Given the description of an element on the screen output the (x, y) to click on. 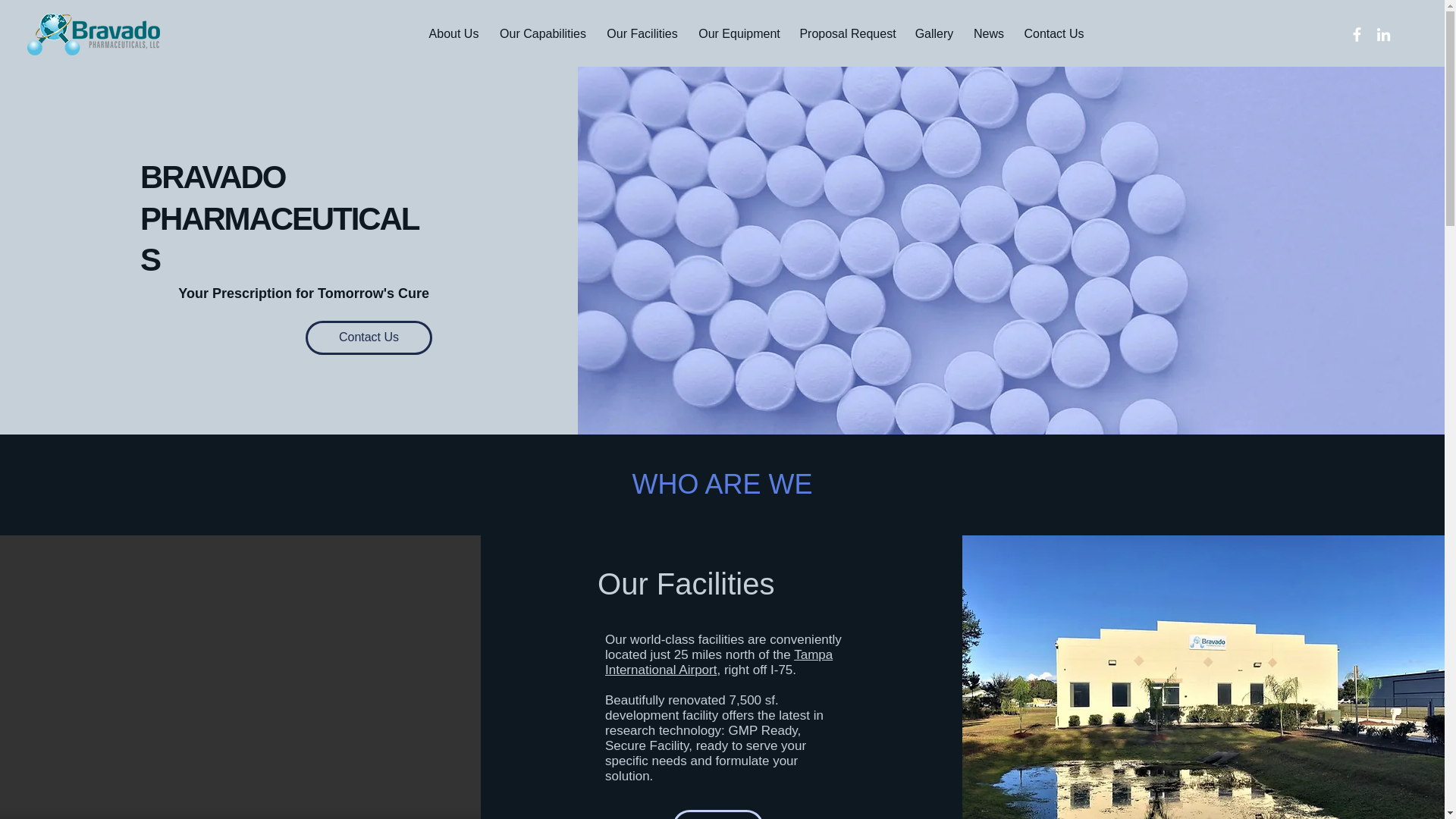
Our Equipment (739, 33)
See More (717, 814)
Our Facilities (641, 33)
Tampa International Airport (718, 662)
News (987, 33)
Proposal Request (847, 33)
About Us (454, 33)
Gallery (934, 33)
Contact Us (368, 337)
Our Capabilities (542, 33)
